Given the description of an element on the screen output the (x, y) to click on. 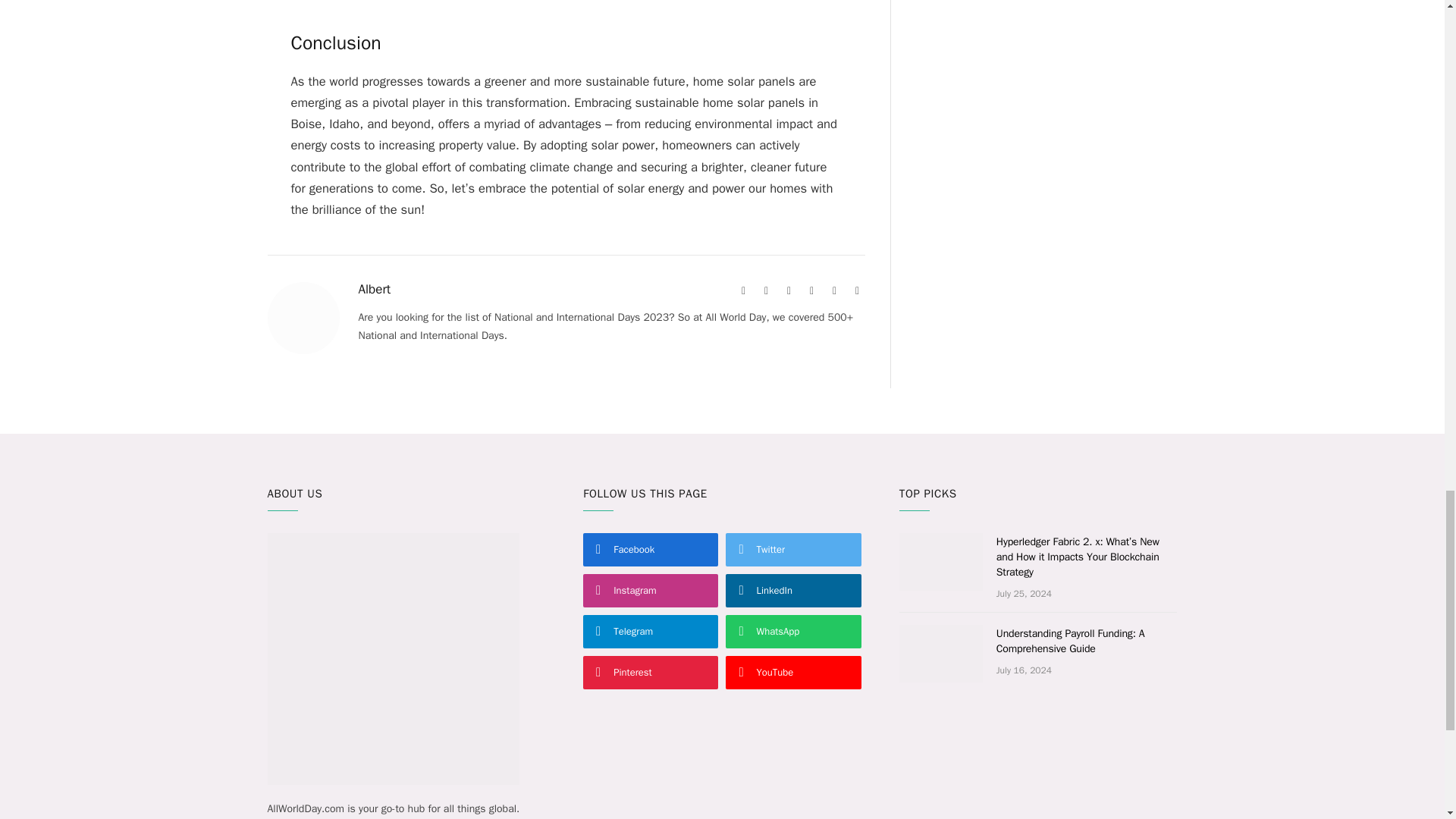
Posts by Albert (374, 289)
Twitter (788, 290)
Website (743, 290)
Facebook (765, 290)
